Given the description of an element on the screen output the (x, y) to click on. 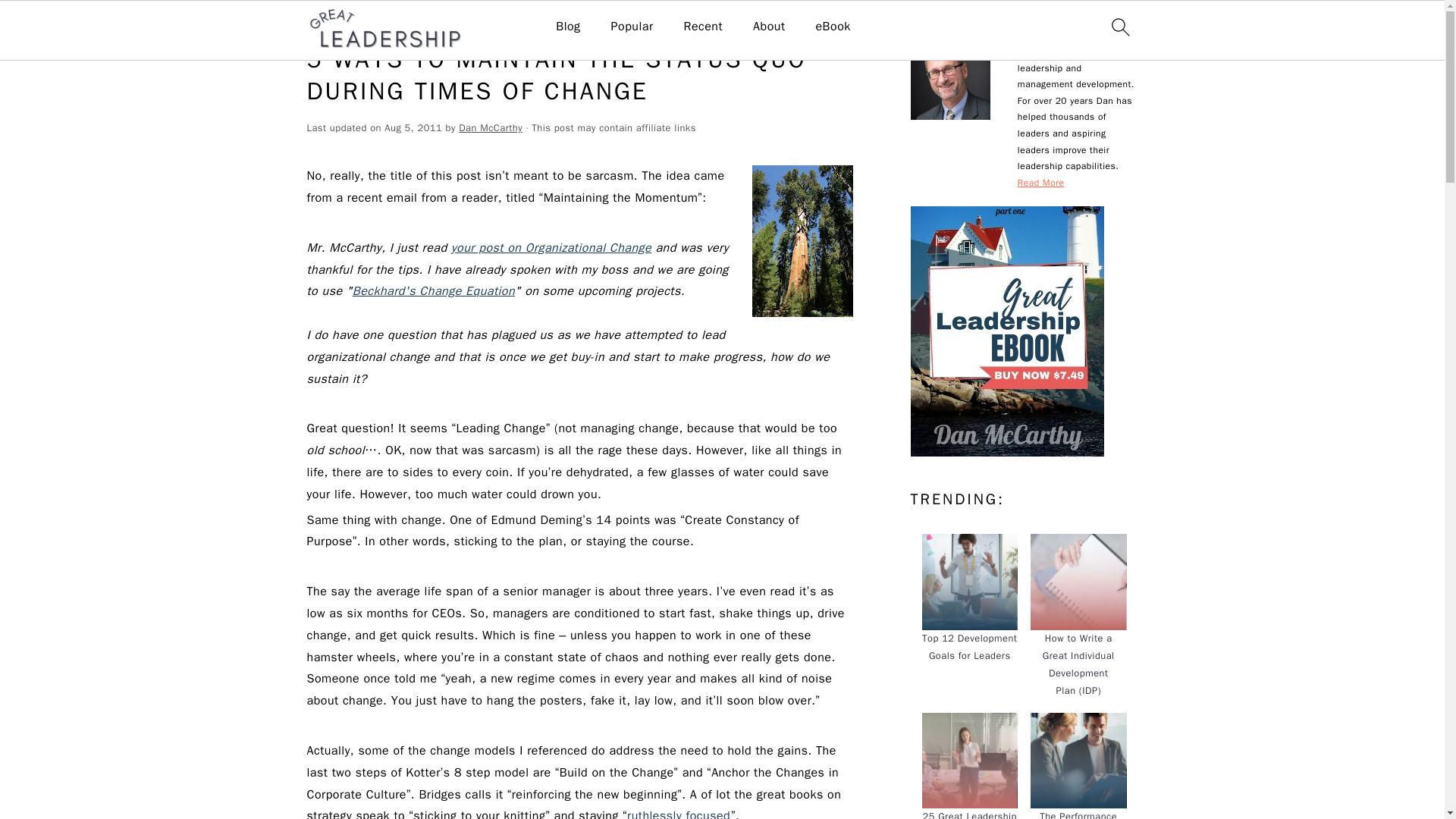
Blog (567, 26)
search icon (1119, 26)
About (768, 26)
Recent (702, 26)
your post on Organizational Change (550, 247)
Home (381, 23)
eBook (832, 26)
change (422, 23)
Dan McCarthy (490, 128)
